Given the description of an element on the screen output the (x, y) to click on. 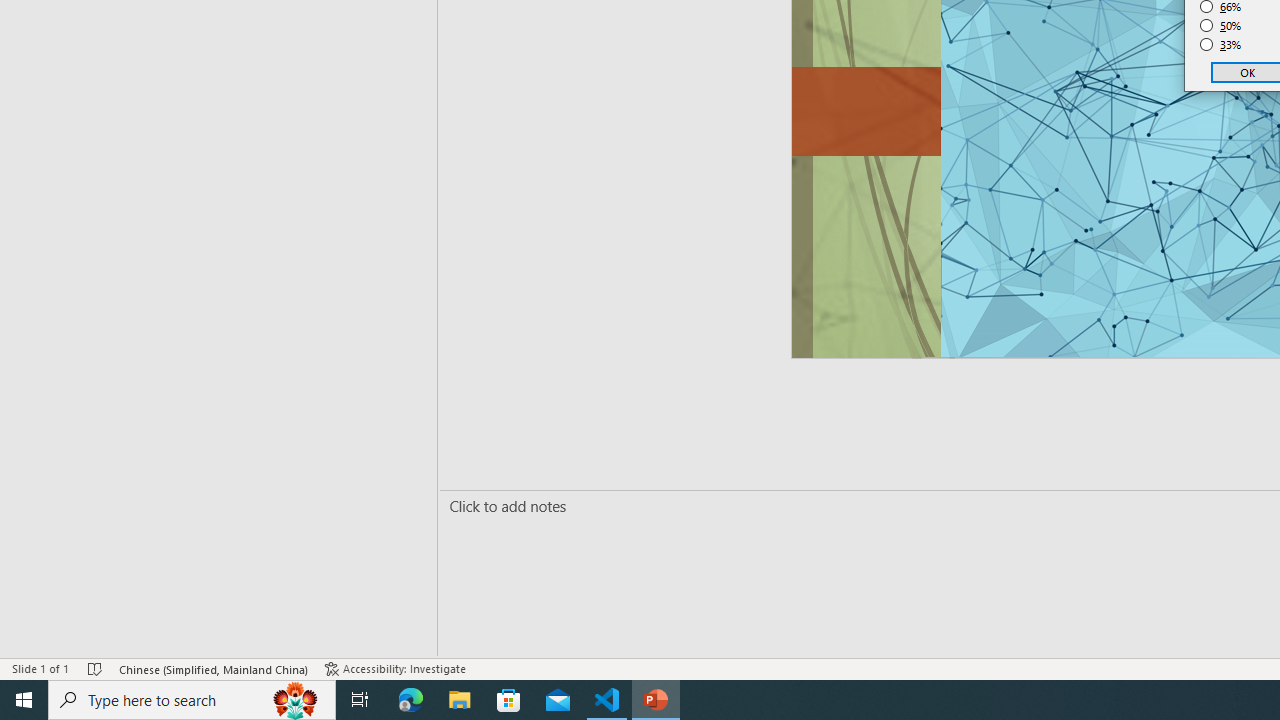
33% (1221, 44)
50% (1221, 25)
